Given the description of an element on the screen output the (x, y) to click on. 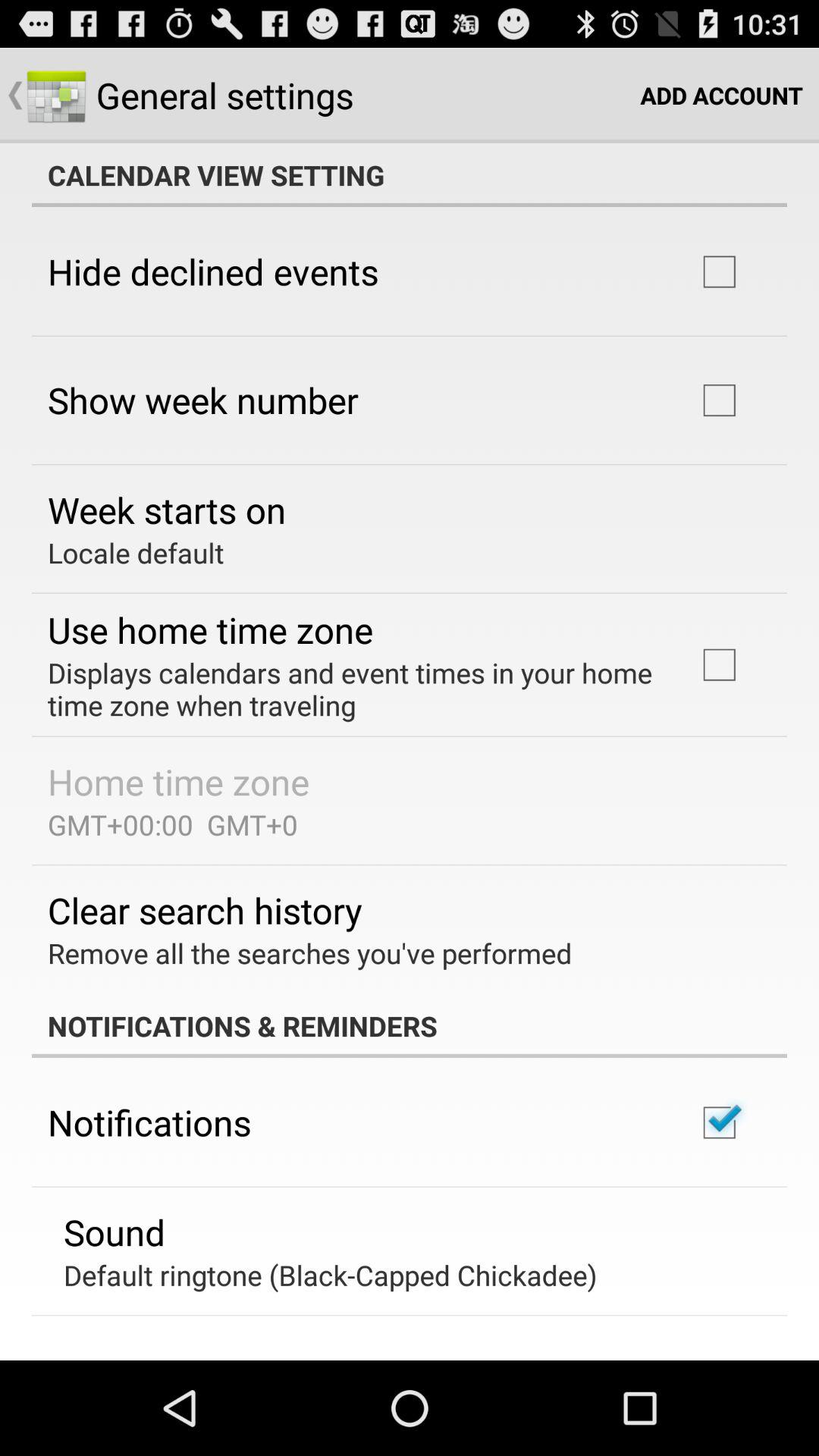
turn on item above week starts on (202, 399)
